Given the description of an element on the screen output the (x, y) to click on. 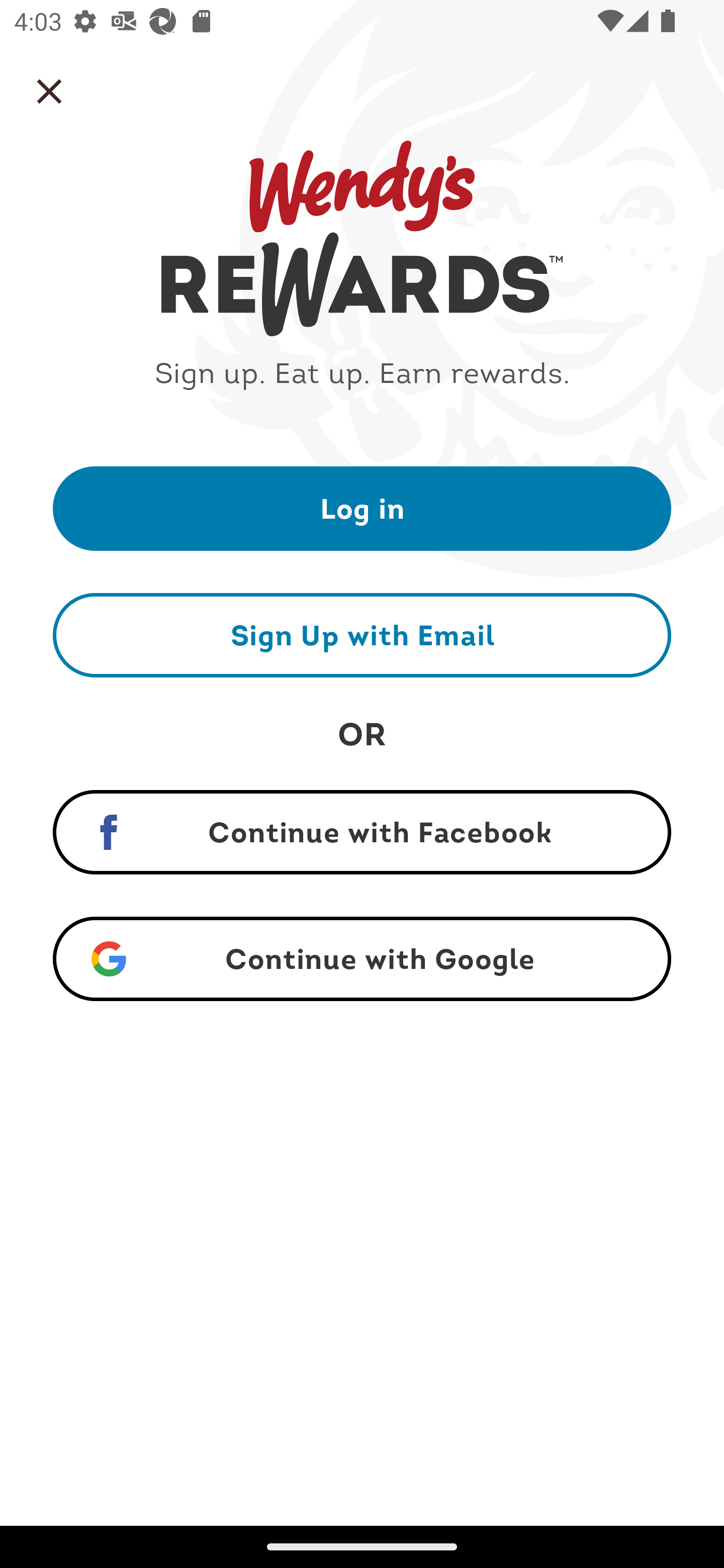
close (49, 91)
Log in (361, 507)
Sign Up with Email (361, 634)
Continue with Facebook (361, 832)
Continue with Google (361, 958)
